Given the description of an element on the screen output the (x, y) to click on. 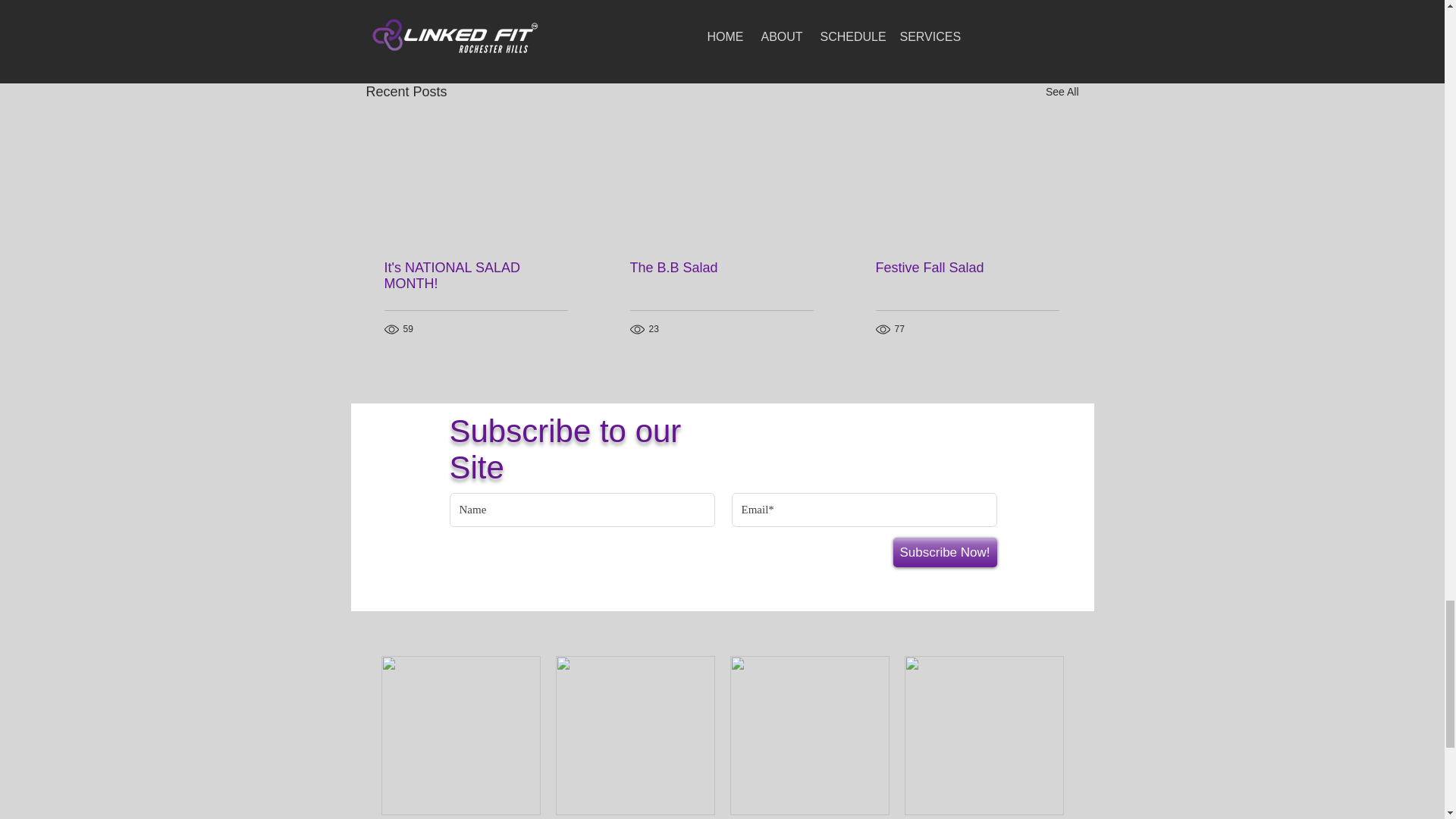
Festive Fall Salad (966, 268)
See All (1061, 92)
Subscribe Now! (945, 552)
The B.B Salad (720, 268)
It's NATIONAL SALAD MONTH! (475, 275)
